Given the description of an element on the screen output the (x, y) to click on. 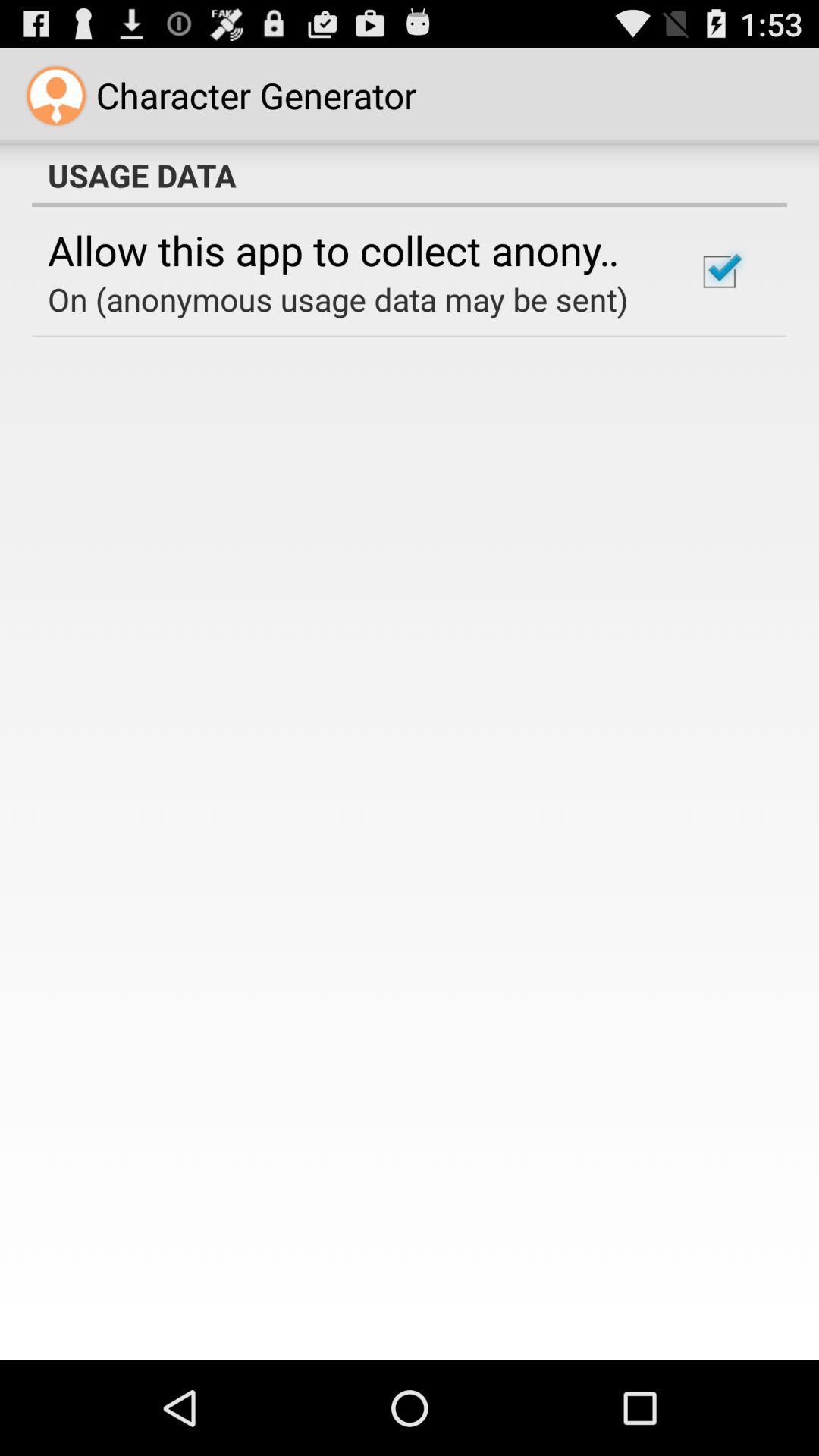
scroll to allow this app app (351, 249)
